Given the description of an element on the screen output the (x, y) to click on. 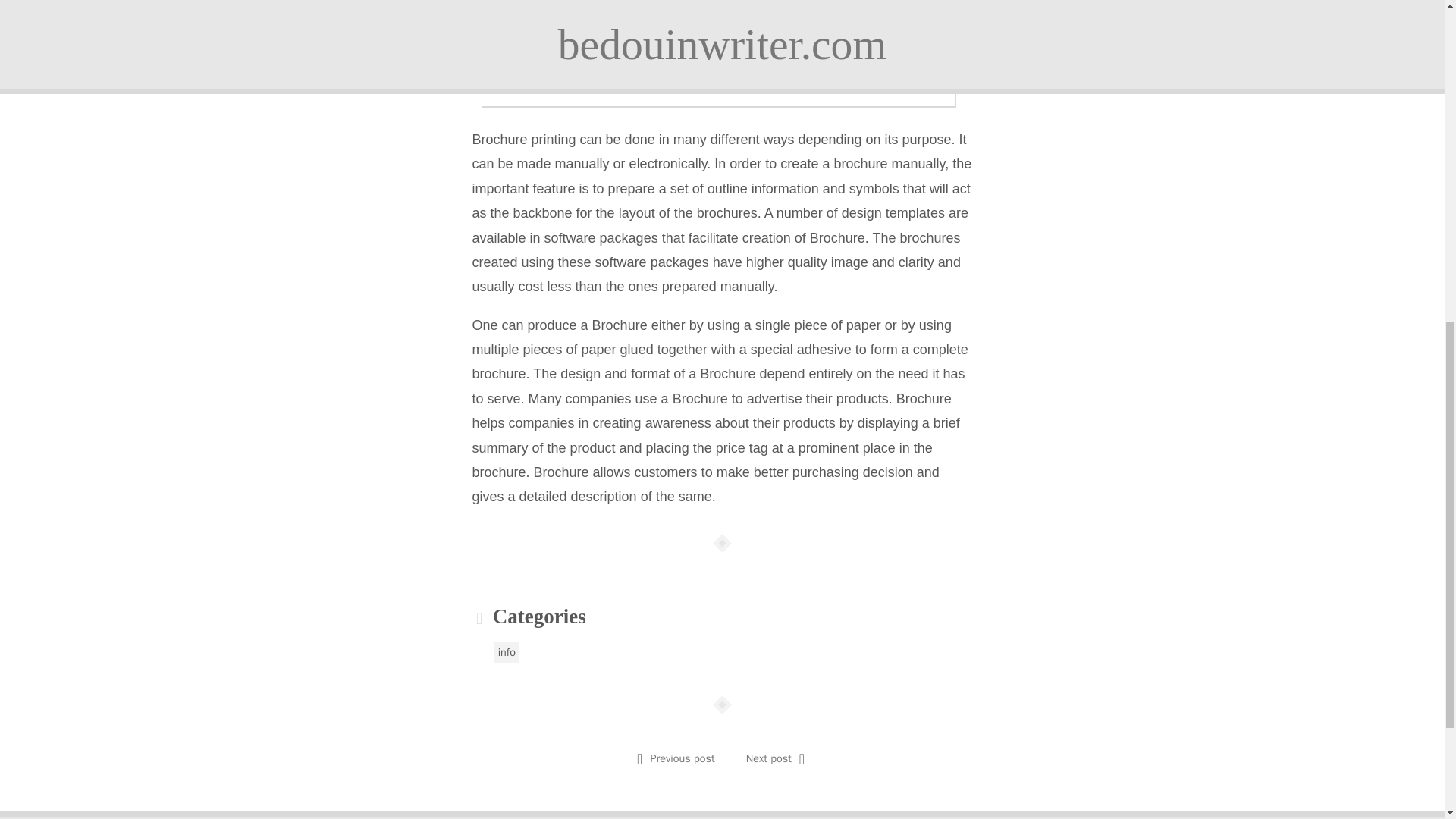
Previous post (682, 757)
info (507, 651)
Next post (768, 757)
